Given the description of an element on the screen output the (x, y) to click on. 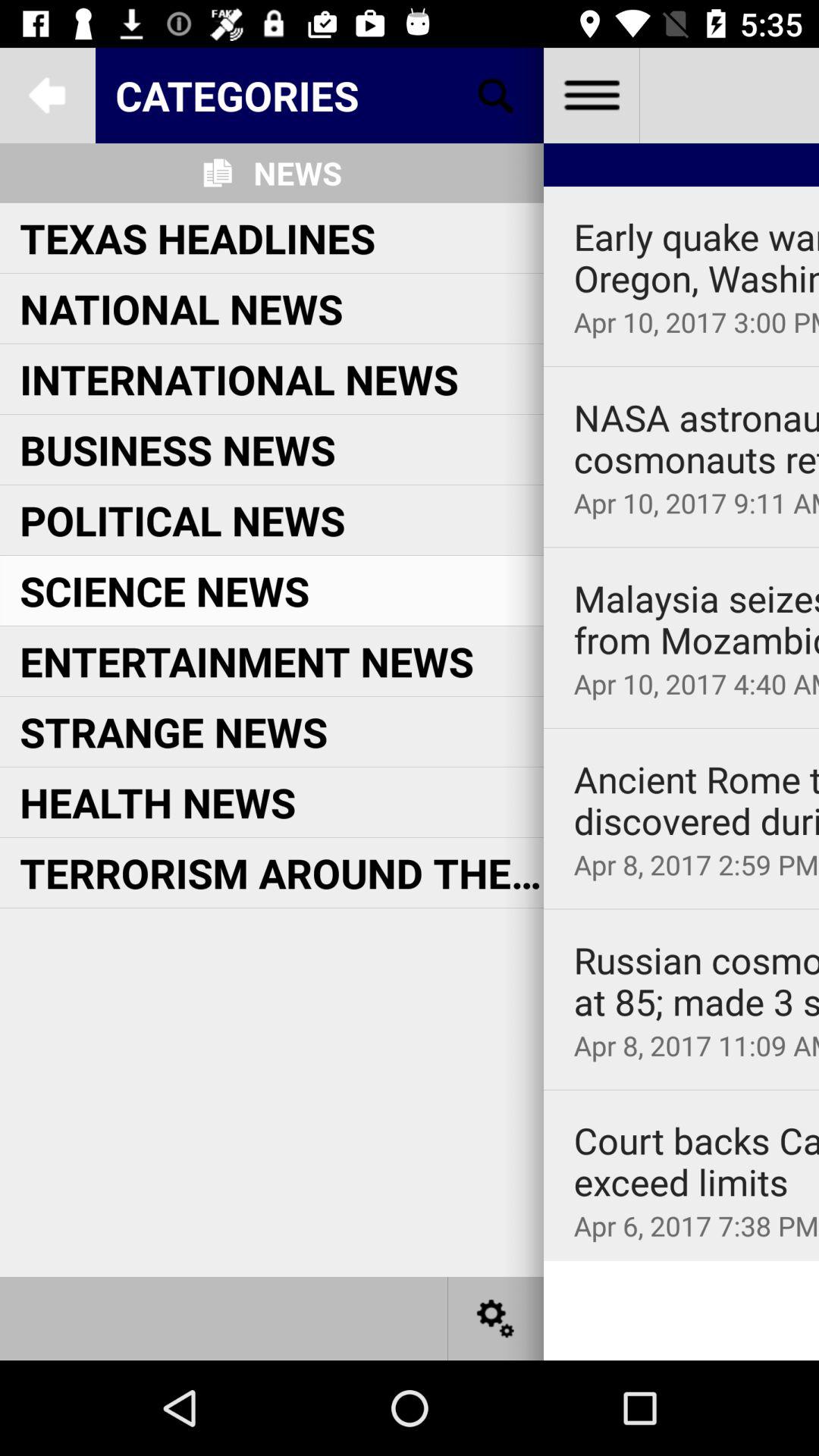
open menu options (591, 95)
